Given the description of an element on the screen output the (x, y) to click on. 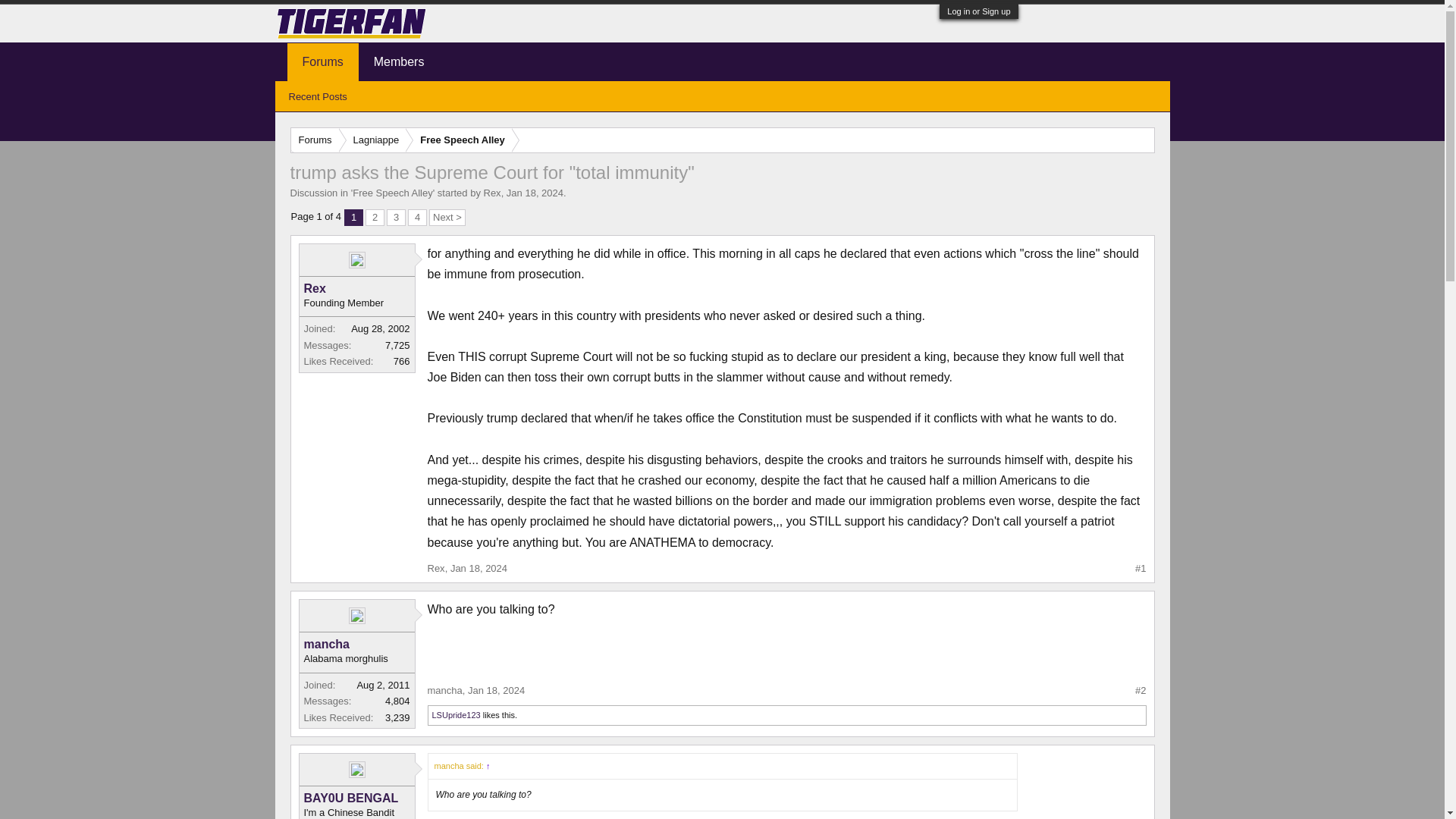
Permalink (477, 568)
Jan 18, 2024 at 12:09 PM (534, 193)
Jan 18, 2024 (495, 690)
Open quick navigation (1141, 139)
Permalink (495, 690)
mancha (355, 644)
mancha (445, 690)
Jan 18, 2024 (534, 193)
Free Speech Alley (392, 193)
7,725 (397, 345)
Log in or Sign up (978, 10)
Jan 18, 2024 (477, 568)
2 (374, 217)
Rex (355, 288)
4,804 (397, 700)
